Given the description of an element on the screen output the (x, y) to click on. 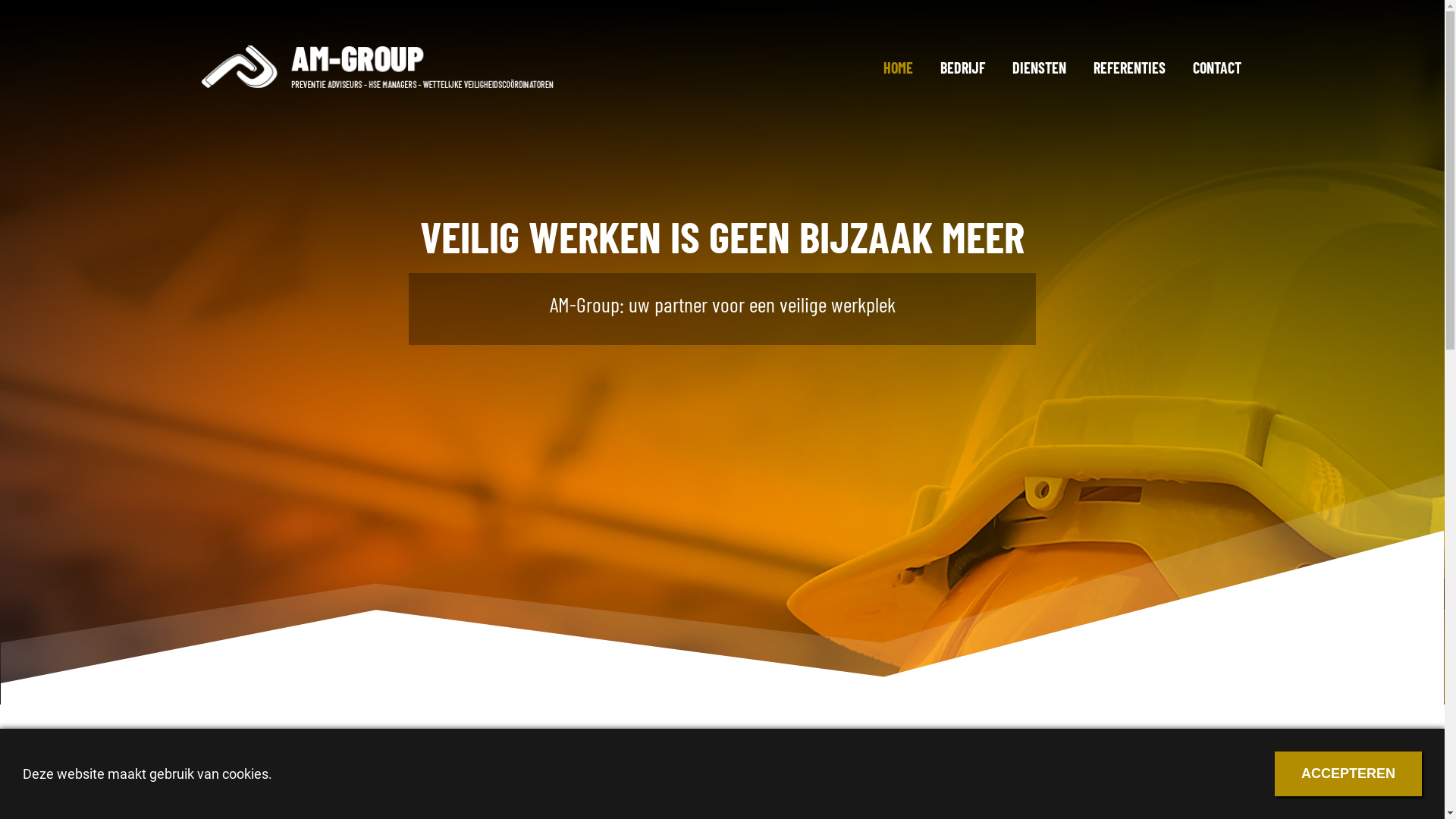
CONTACT Element type: text (1215, 67)
HOME Element type: text (897, 67)
BEDRIJF Element type: text (962, 67)
ACCEPTEREN Element type: text (1347, 773)
REFERENTIES Element type: text (1129, 67)
DIENSTEN Element type: text (1038, 67)
